Given the description of an element on the screen output the (x, y) to click on. 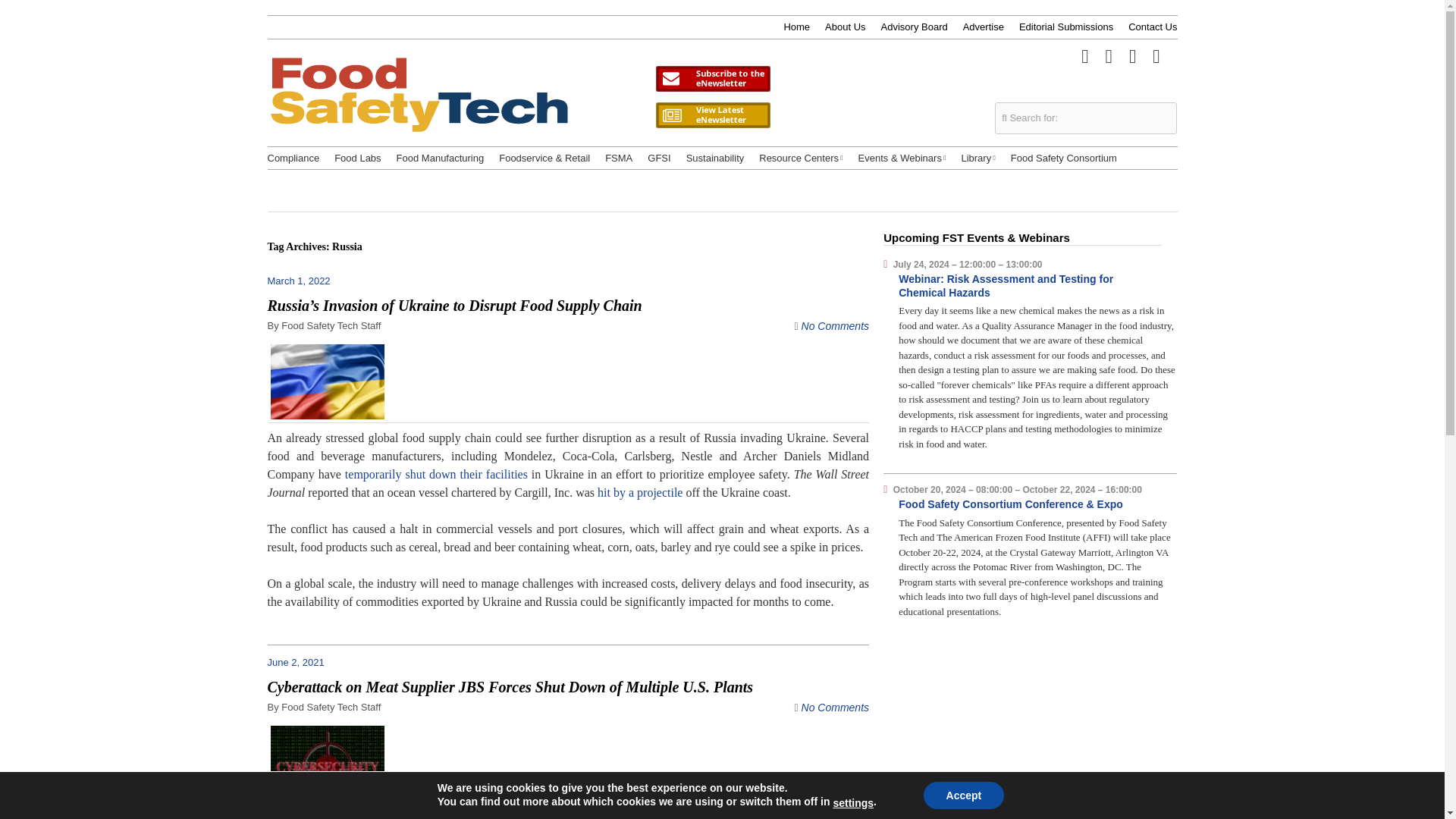
Library (977, 157)
Contact Us (1152, 27)
Advisory Board (913, 27)
Subscribe to my RSS Feed (1156, 55)
Home (796, 27)
Advertise (983, 27)
Food Safety Consortium (1063, 157)
FSMA (618, 157)
Editorial Submissions (1066, 27)
About Us (844, 27)
Resource Centers (800, 157)
Sustainability (714, 157)
Follow me on Twitter (1084, 55)
Connect with me on LinkedIn (1132, 55)
Food Manufacturing (440, 157)
